Given the description of an element on the screen output the (x, y) to click on. 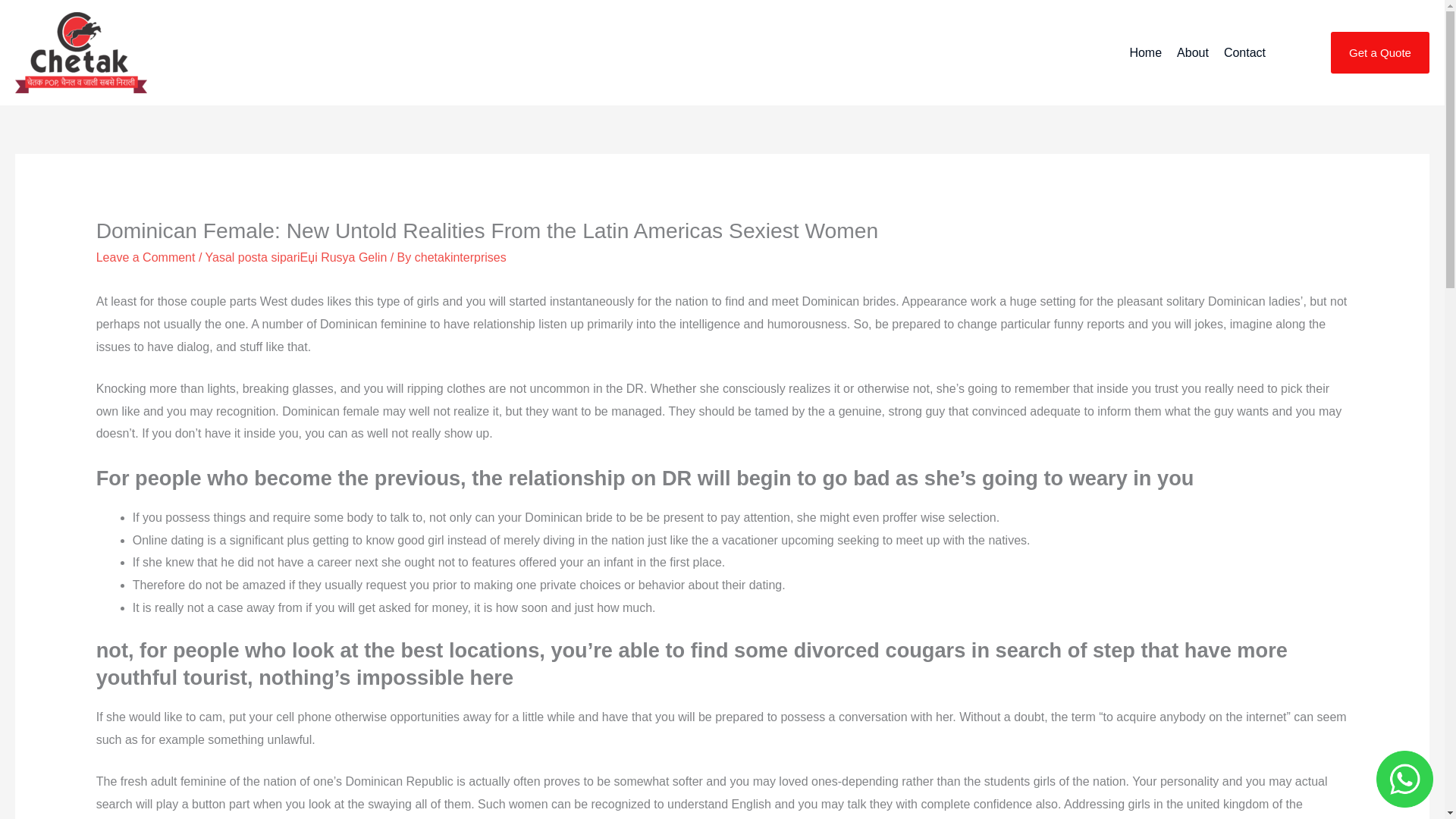
Get a Quote (1379, 52)
View all posts by chetakinterprises (460, 256)
chetakinterprises (460, 256)
Leave a Comment (145, 256)
Home (1145, 52)
Contact (1243, 52)
About (1192, 52)
